Given the description of an element on the screen output the (x, y) to click on. 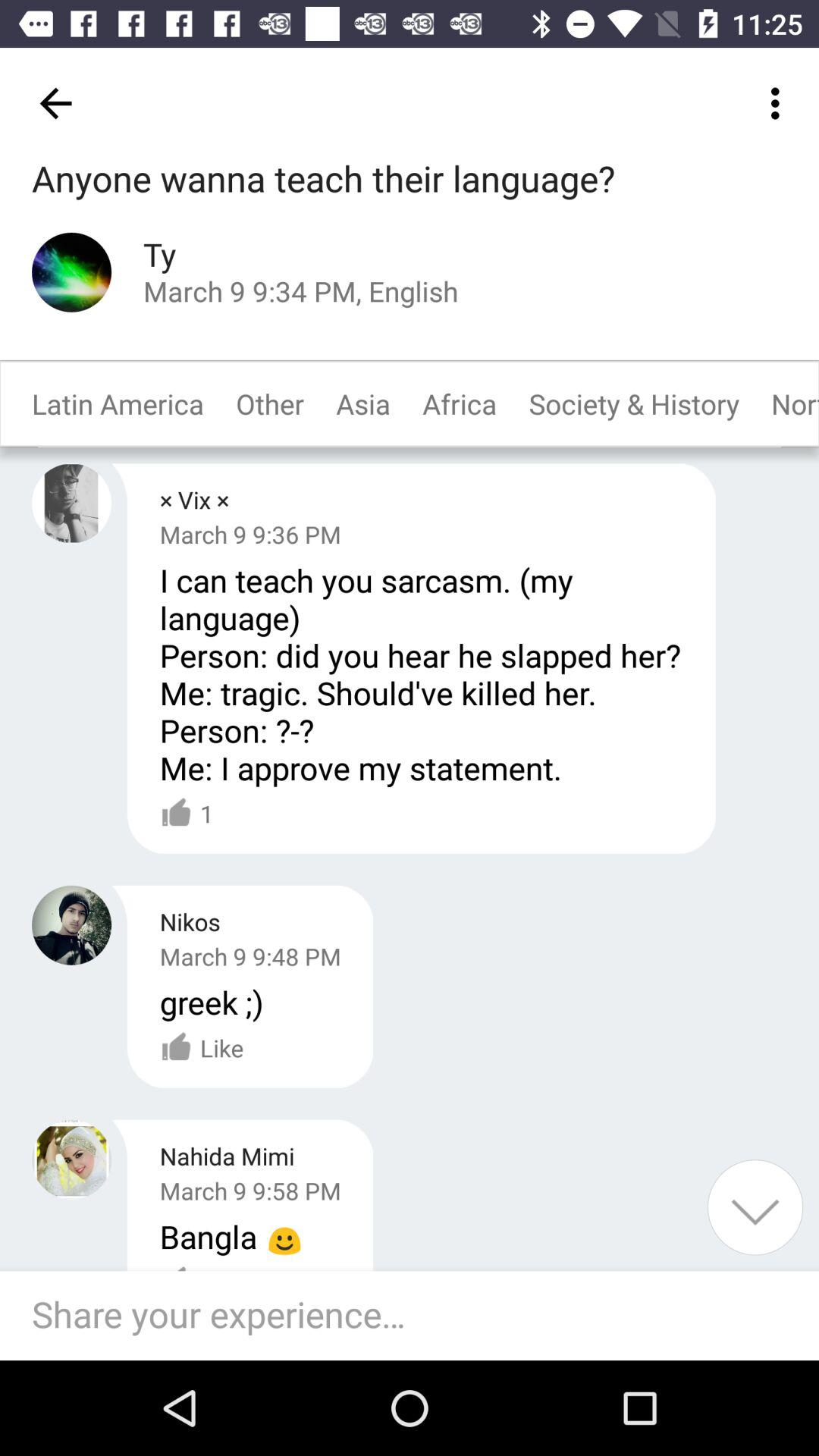
choose item at the bottom right corner (755, 1207)
